Given the description of an element on the screen output the (x, y) to click on. 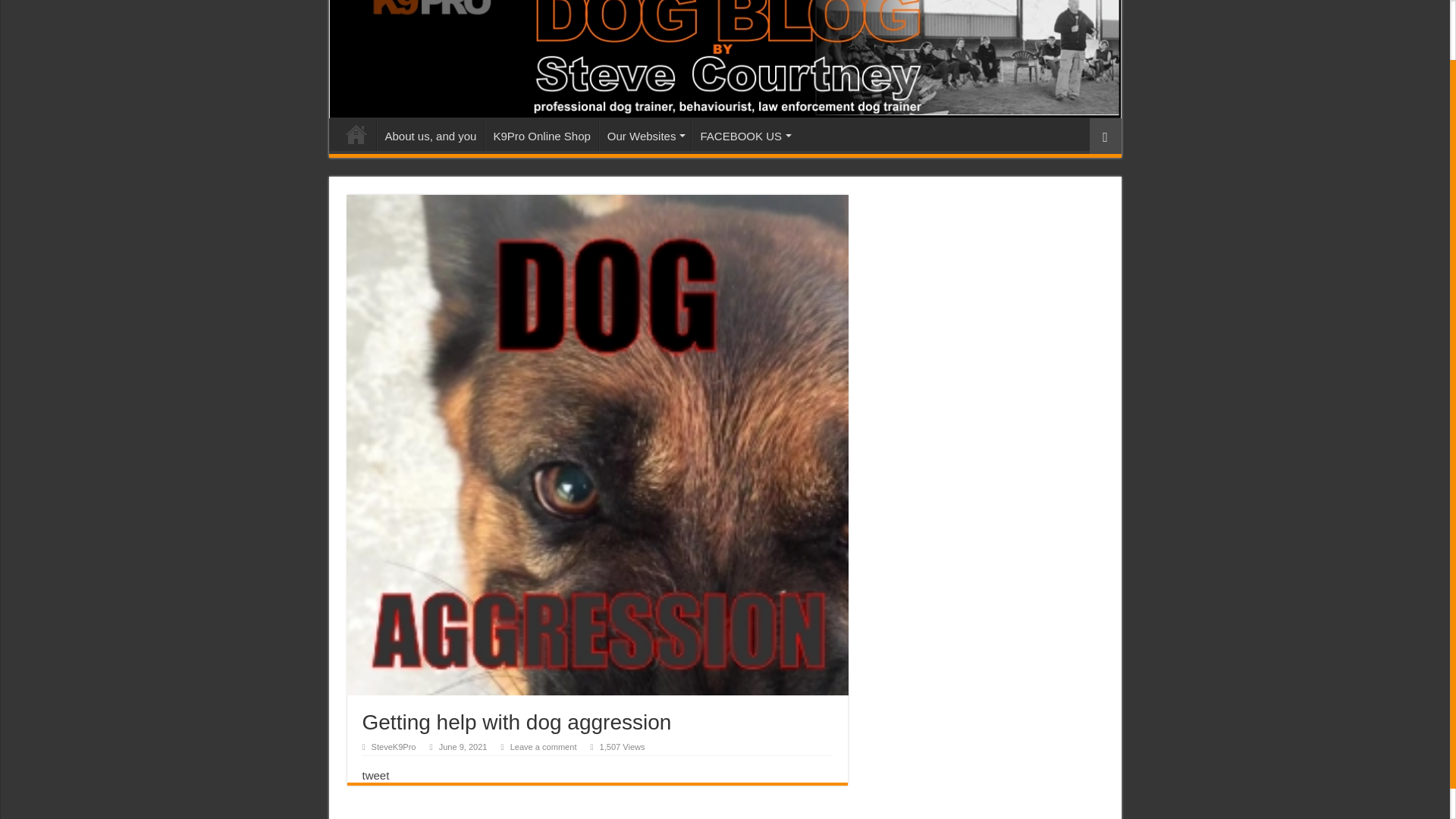
tweet (376, 775)
Blog by K9 Pro and Steve Courtney Dog Training (725, 58)
Our Websites (644, 133)
FACEBOOK US (743, 133)
Home (355, 133)
SteveK9Pro (393, 746)
About us, and you (429, 133)
Leave a comment (543, 746)
Random Article (1105, 135)
K9Pro Online Shop (540, 133)
